Given the description of an element on the screen output the (x, y) to click on. 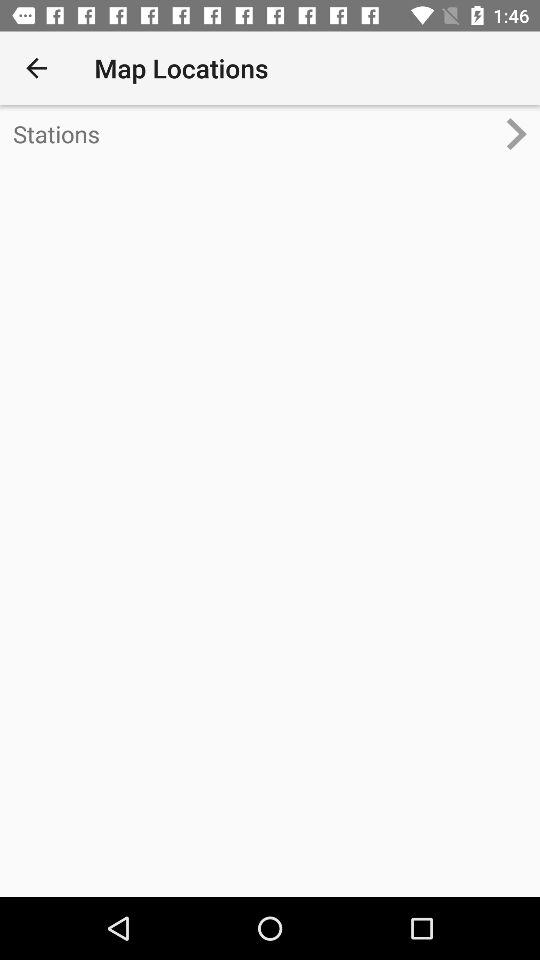
click item at the top right corner (523, 133)
